Given the description of an element on the screen output the (x, y) to click on. 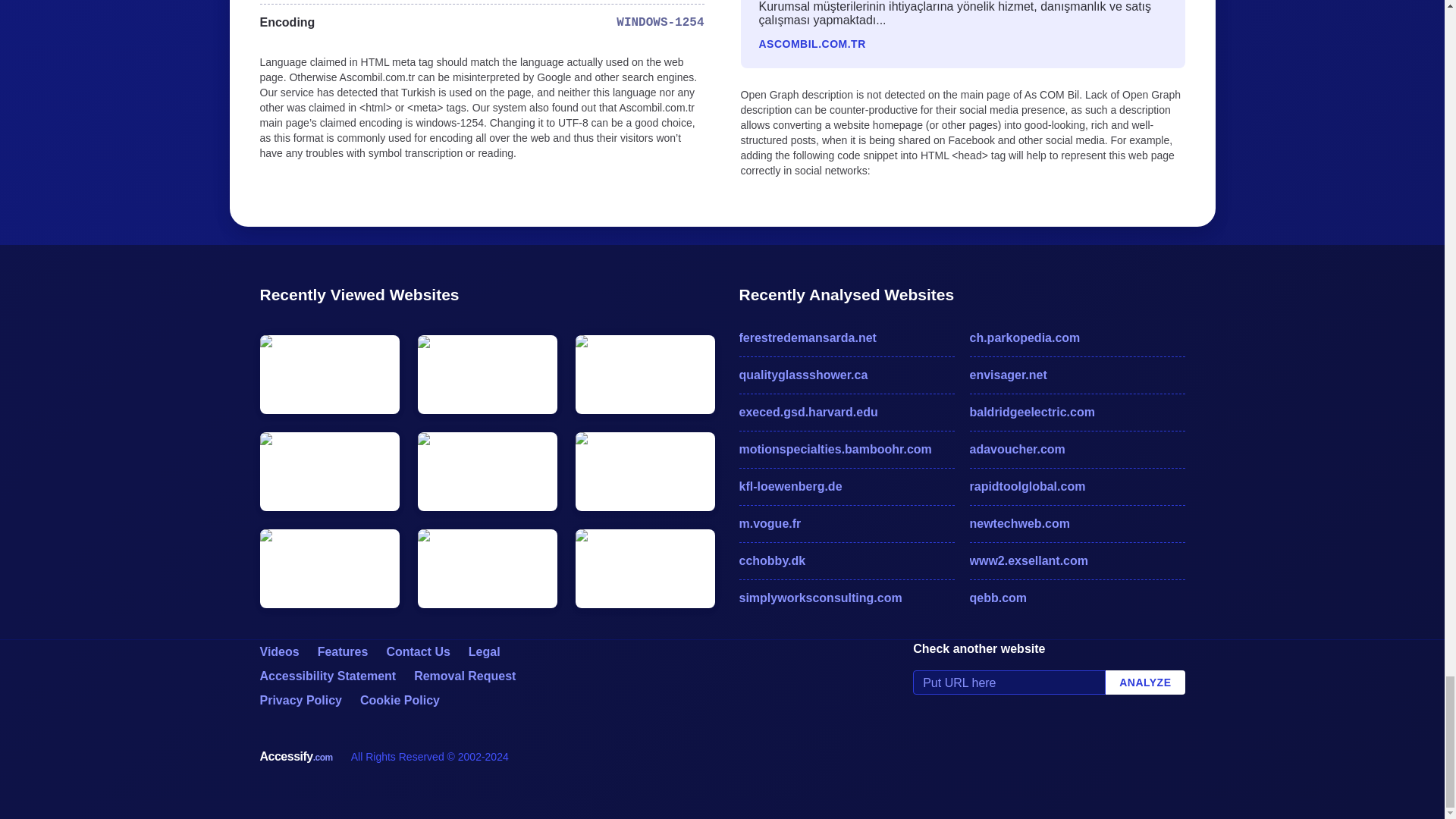
ch.parkopedia.com (1077, 338)
envisager.net (1077, 375)
qebb.com (1077, 597)
m.vogue.fr (845, 524)
www2.exsellant.com (1077, 561)
rapidtoolglobal.com (1077, 486)
Features (342, 651)
qualityglassshower.ca (845, 375)
Contact Us (417, 651)
Videos (278, 651)
